Given the description of an element on the screen output the (x, y) to click on. 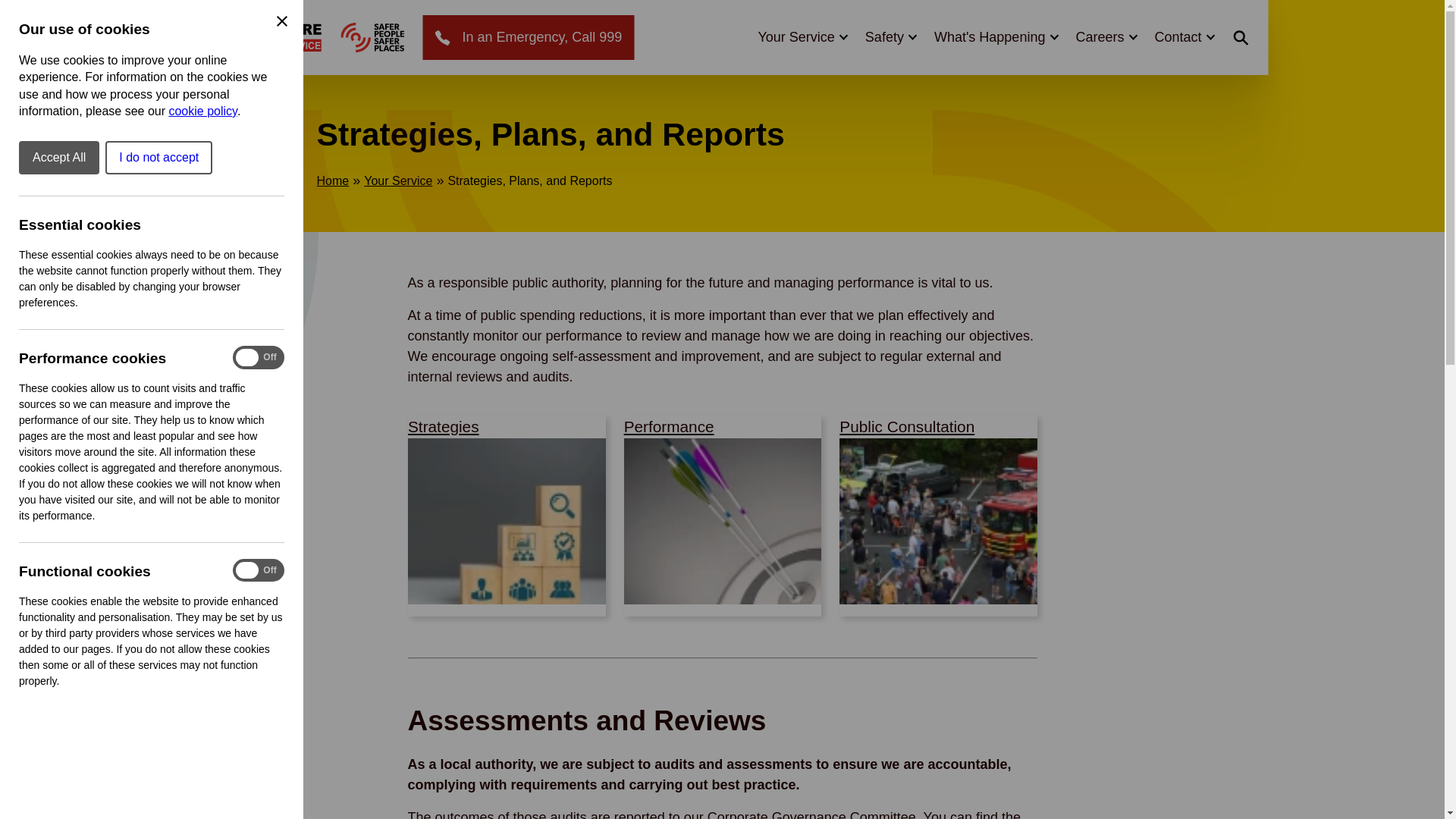
Careers (1105, 37)
What's Happening (996, 37)
Accept All (58, 157)
Toggle Search (1240, 37)
Contact (1183, 37)
Search (1143, 59)
A (371, 37)
Safety (889, 37)
cookie policy (201, 110)
Your Service (801, 37)
